Given the description of an element on the screen output the (x, y) to click on. 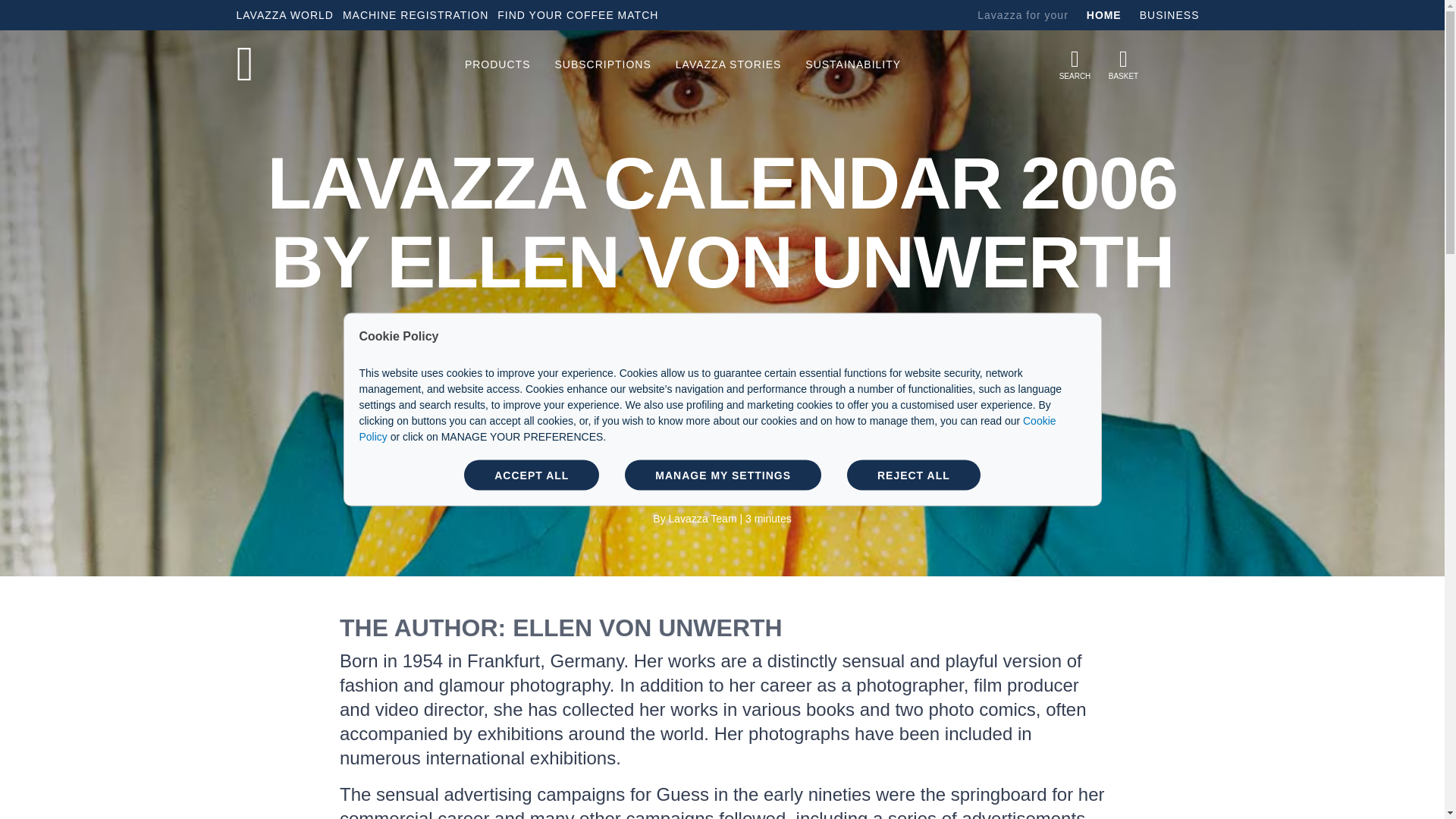
HOME (1103, 14)
BASKET (1123, 63)
SUSTAINABILITY (853, 64)
LAVAZZA WORLD (286, 14)
BUSINESS (1169, 14)
PRODUCTS (497, 64)
LAVAZZA STORIES (727, 64)
SEARCH (1075, 63)
MACHINE REGISTRATION (417, 14)
SUBSCRIPTIONS (602, 64)
